Given the description of an element on the screen output the (x, y) to click on. 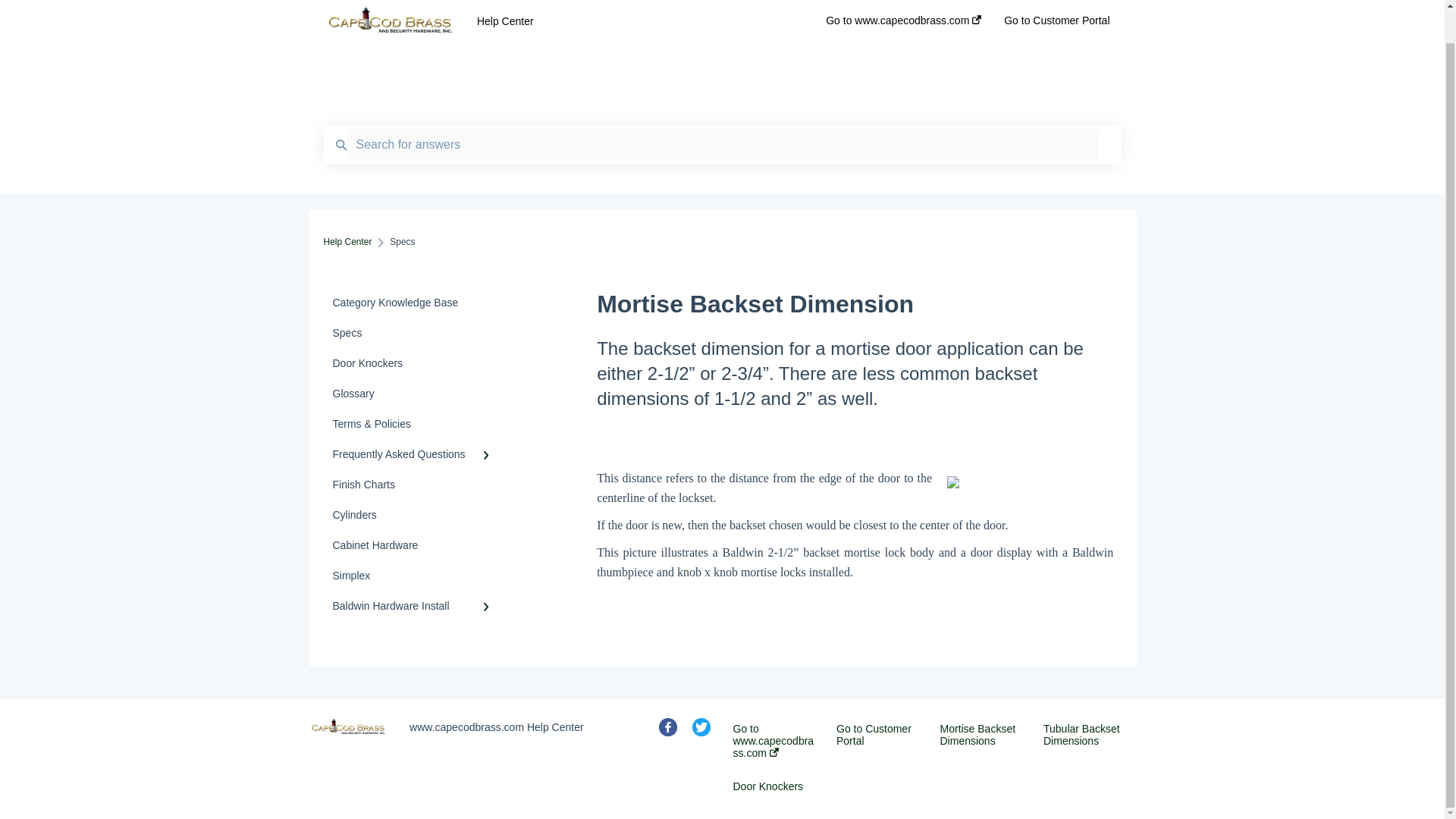
Go to www.capecodbrass.com (773, 740)
Go to Customer Portal (876, 734)
Specs (414, 332)
Frequently Asked Questions (414, 453)
Cabinet Hardware (414, 544)
Finish Charts (414, 484)
Category Knowledge Base (414, 302)
Simplex (414, 575)
Door Knockers (414, 363)
Baldwin Hardware Install (414, 605)
Door Knockers (767, 786)
Cylinders (414, 514)
Help Center (347, 241)
Mortise Backset Dimensions (981, 734)
Go to Customer Portal (1056, 8)
